Given the description of an element on the screen output the (x, y) to click on. 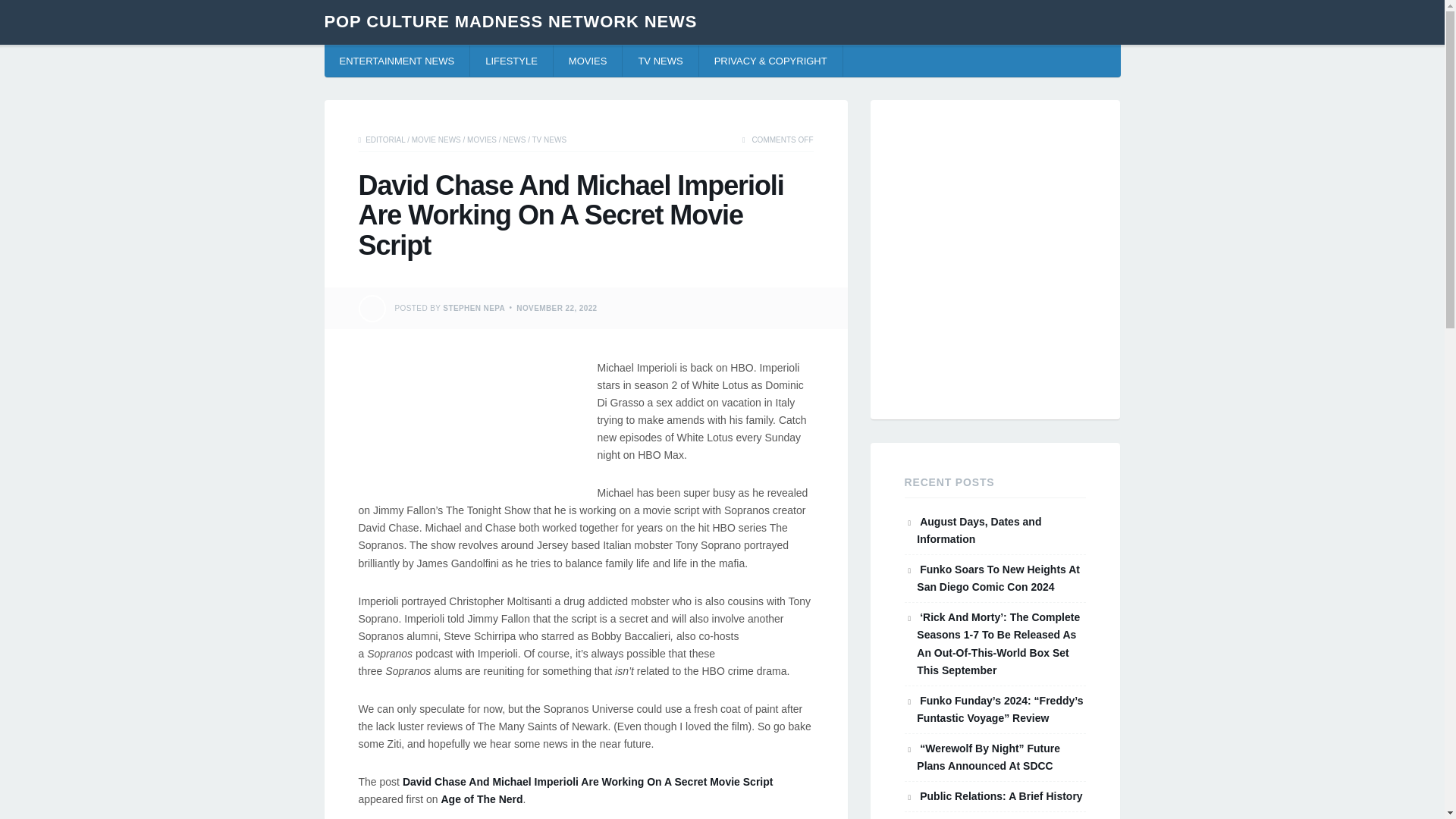
MOVIES (481, 139)
Funko Soars To New Heights At San Diego Comic Con 2024 (998, 577)
LIFESTYLE (511, 60)
View all posts by Stephen Nepa (473, 307)
NEWS (513, 139)
MOVIE NEWS (436, 139)
NOVEMBER 22, 2022 (556, 307)
EDITORIAL (384, 139)
Public Relations: A Brief History (1000, 796)
